Given the description of an element on the screen output the (x, y) to click on. 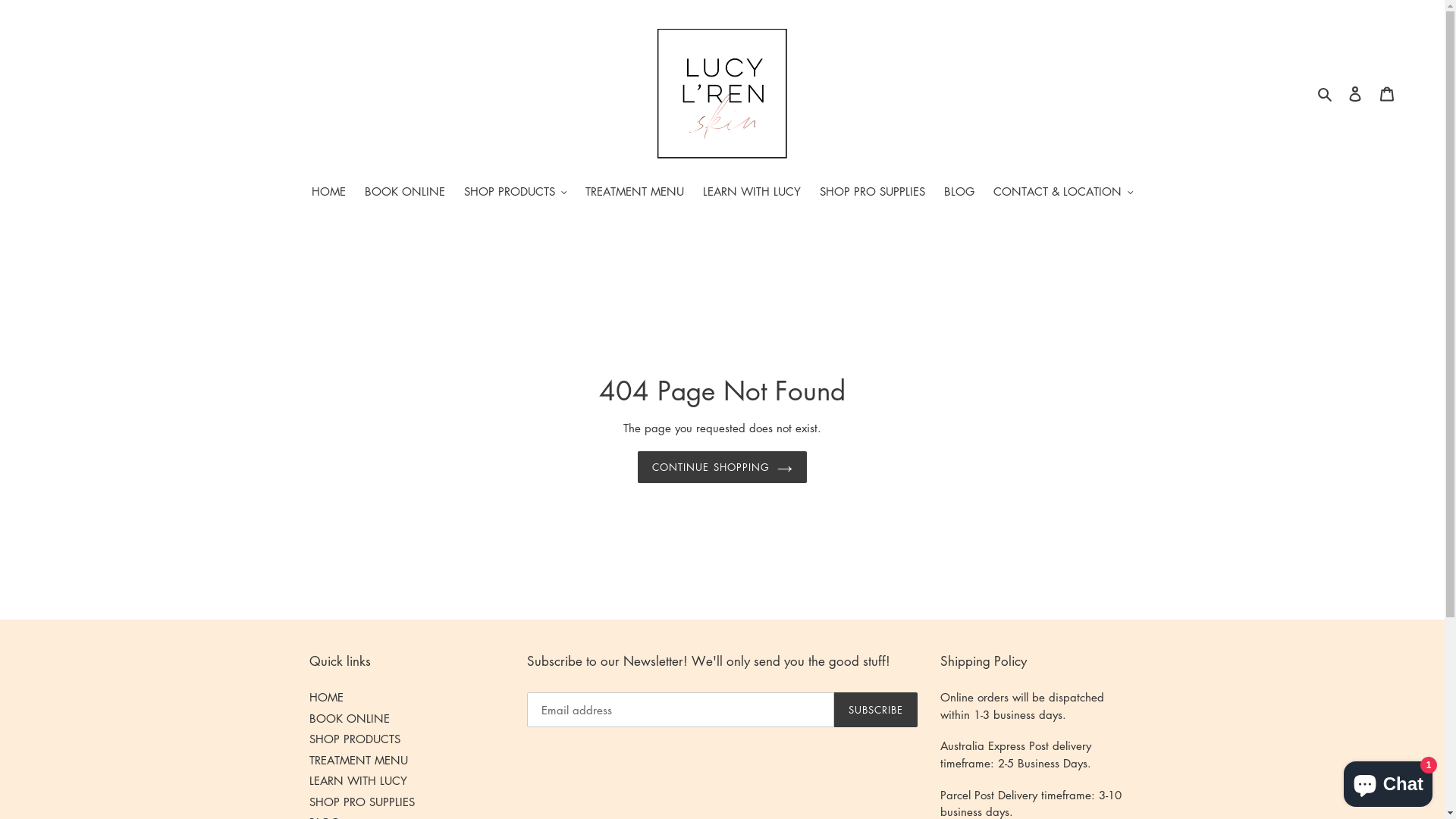
Shopify online store chat Element type: hover (1388, 780)
Search Element type: text (1325, 92)
BOOK ONLINE Element type: text (349, 717)
LEARN WITH LUCY Element type: text (751, 192)
SHOP PRODUCTS Element type: text (515, 192)
CONTINUE SHOPPING Element type: text (721, 467)
BOOK ONLINE Element type: text (403, 192)
Log in Element type: text (1355, 92)
HOME Element type: text (327, 192)
LEARN WITH LUCY Element type: text (358, 780)
TREATMENT MENU Element type: text (634, 192)
SHOP PRO SUPPLIES Element type: text (361, 801)
HOME Element type: text (326, 697)
SUBSCRIBE Element type: text (875, 710)
Cart Element type: text (1386, 92)
BLOG Element type: text (959, 192)
SHOP PRO SUPPLIES Element type: text (872, 192)
CONTACT & LOCATION Element type: text (1063, 192)
SHOP PRODUCTS Element type: text (354, 738)
TREATMENT MENU Element type: text (358, 759)
